Given the description of an element on the screen output the (x, y) to click on. 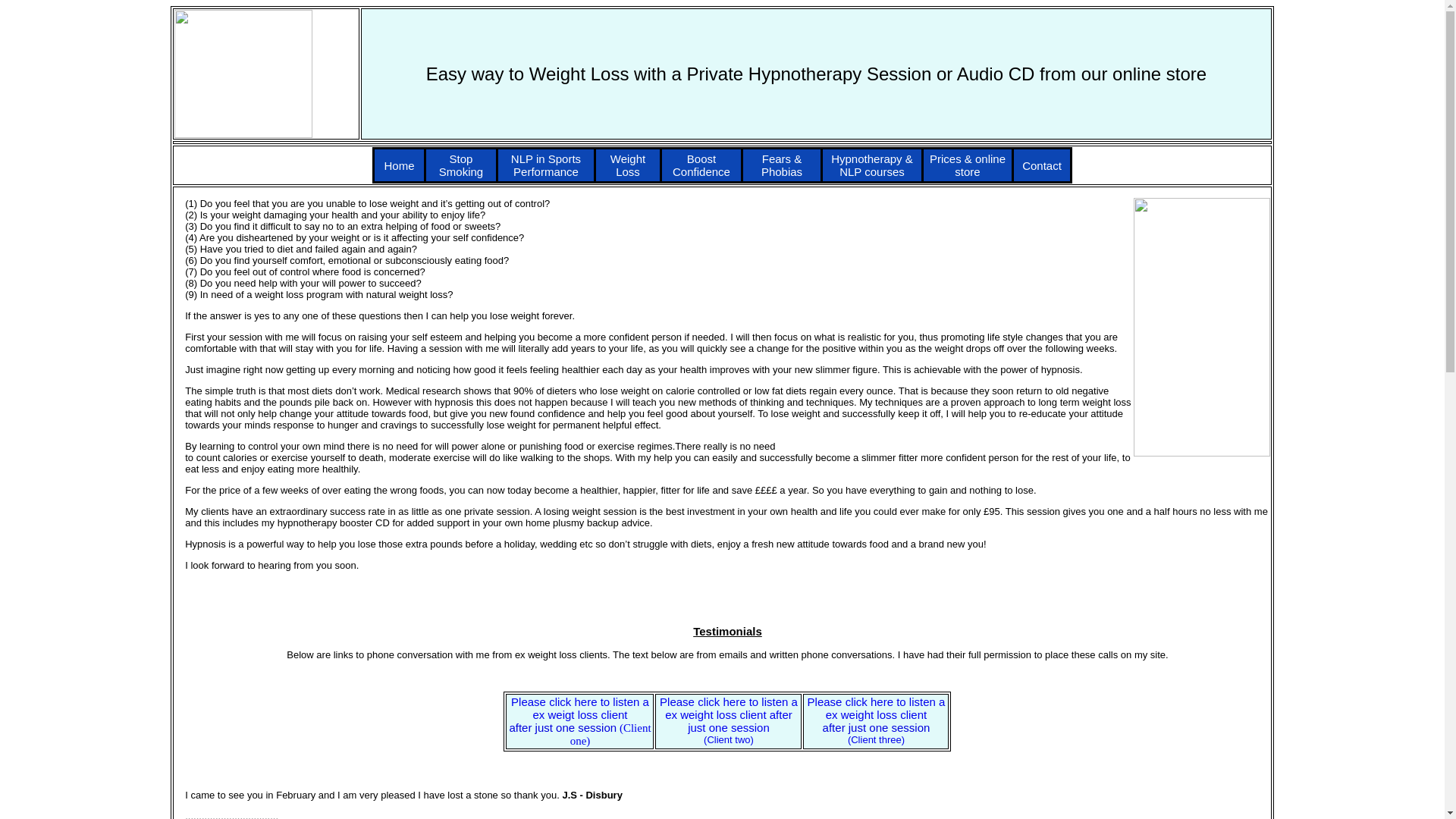
Please click here to listen a ex weight loss client (876, 708)
Home (398, 164)
NLP in Sports Performance (545, 165)
after just one session (876, 727)
Stop Smoking (461, 165)
Boost Confidence (701, 165)
Weight Loss (627, 165)
Contact (1041, 164)
Please click here to listen a ex weigt loss client (580, 708)
